Given the description of an element on the screen output the (x, y) to click on. 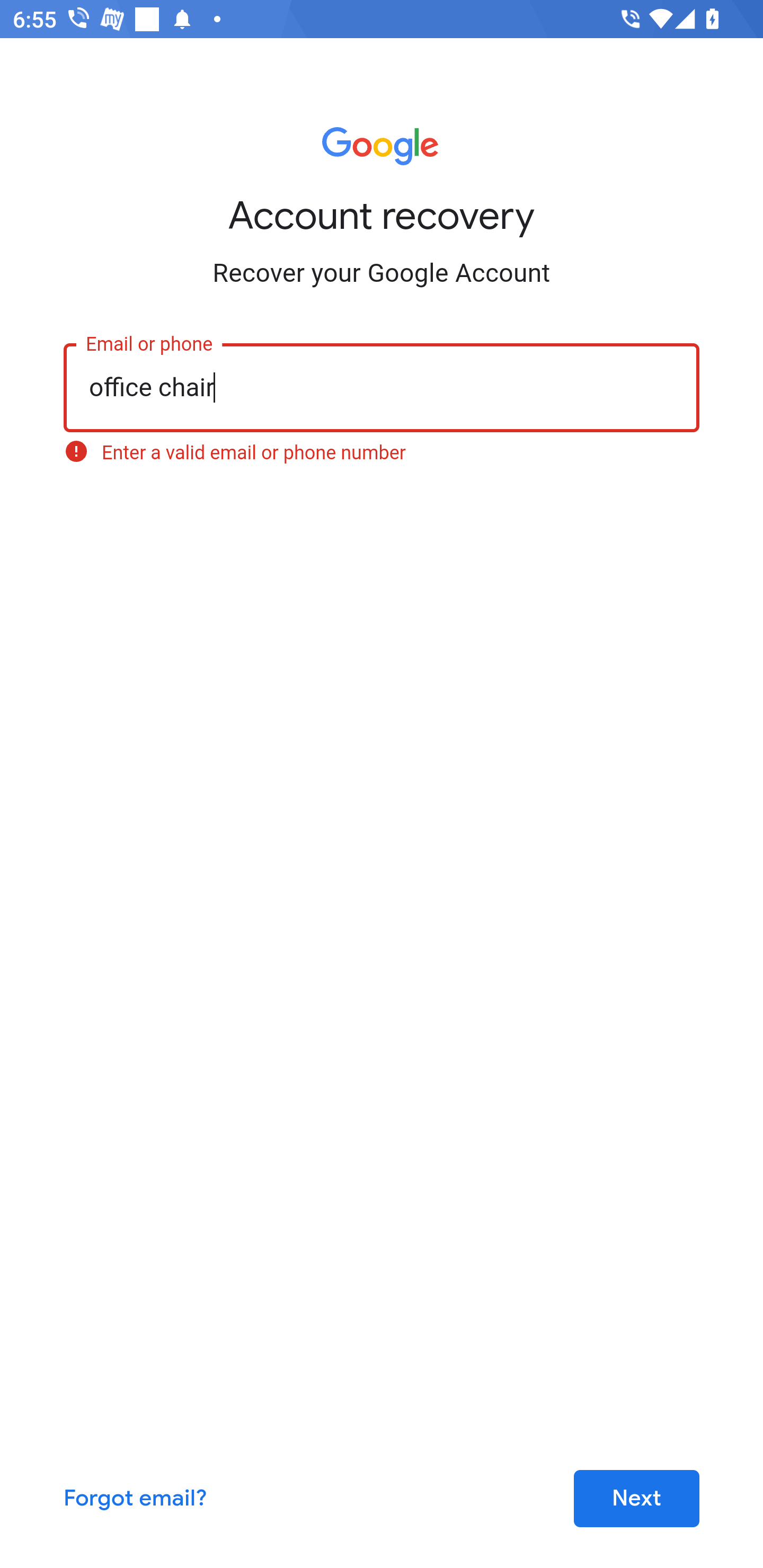
office chair (381, 386)
Forgot email? (136, 1498)
Next (635, 1498)
